Given the description of an element on the screen output the (x, y) to click on. 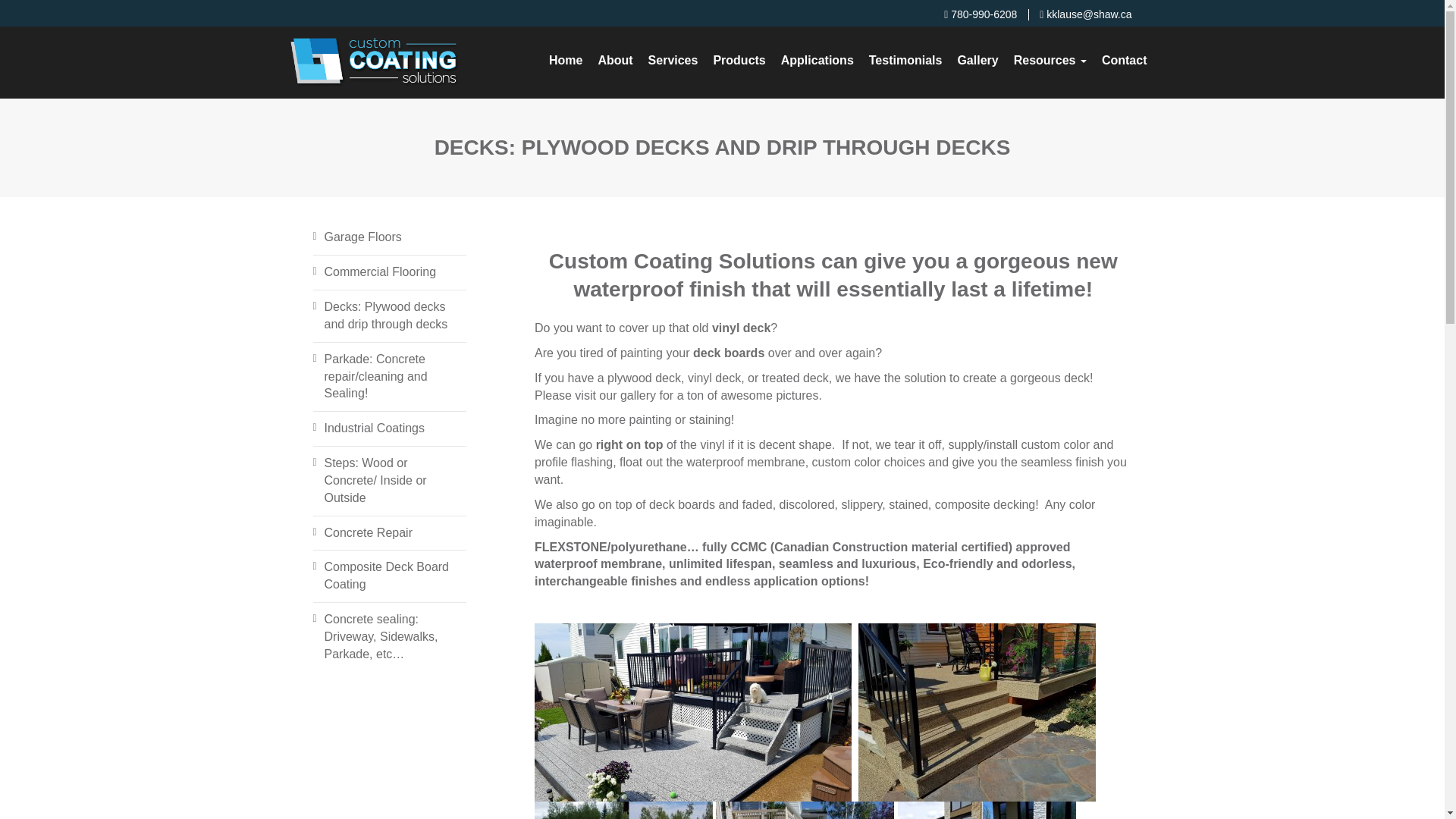
Testimonials (905, 60)
About (614, 60)
Gallery (977, 60)
Resources (1050, 60)
Resources (1050, 60)
Applications (817, 60)
Products (738, 60)
Services (673, 60)
Applications (817, 60)
Contact (1124, 60)
Products (738, 60)
Industrial Coatings (374, 428)
Decks: Plywood decks and drip through decks (389, 315)
Gallery (977, 60)
Composite Deck Board Coating (389, 576)
